Given the description of an element on the screen output the (x, y) to click on. 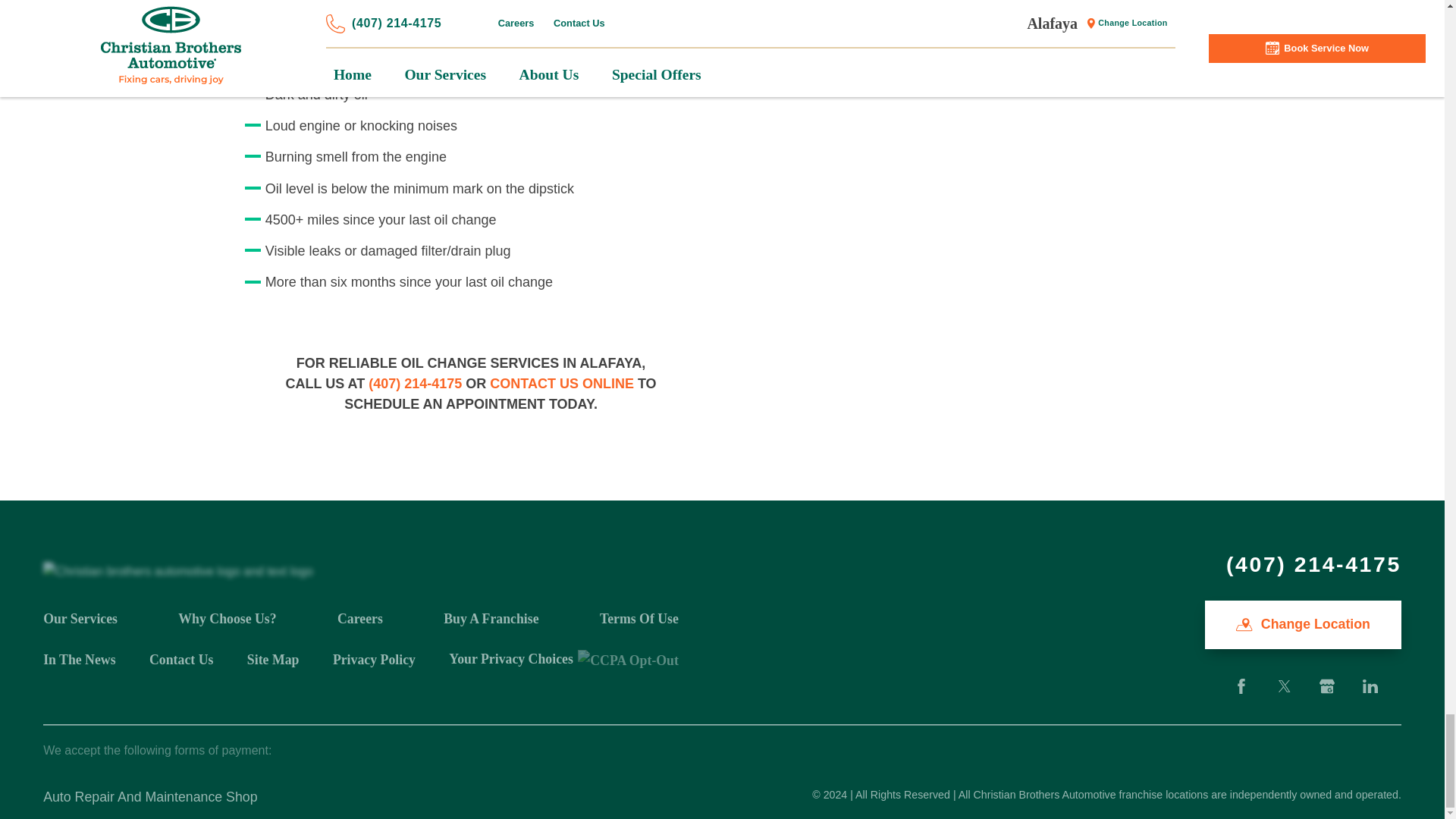
Christian Brothers Automotive (178, 571)
